Given the description of an element on the screen output the (x, y) to click on. 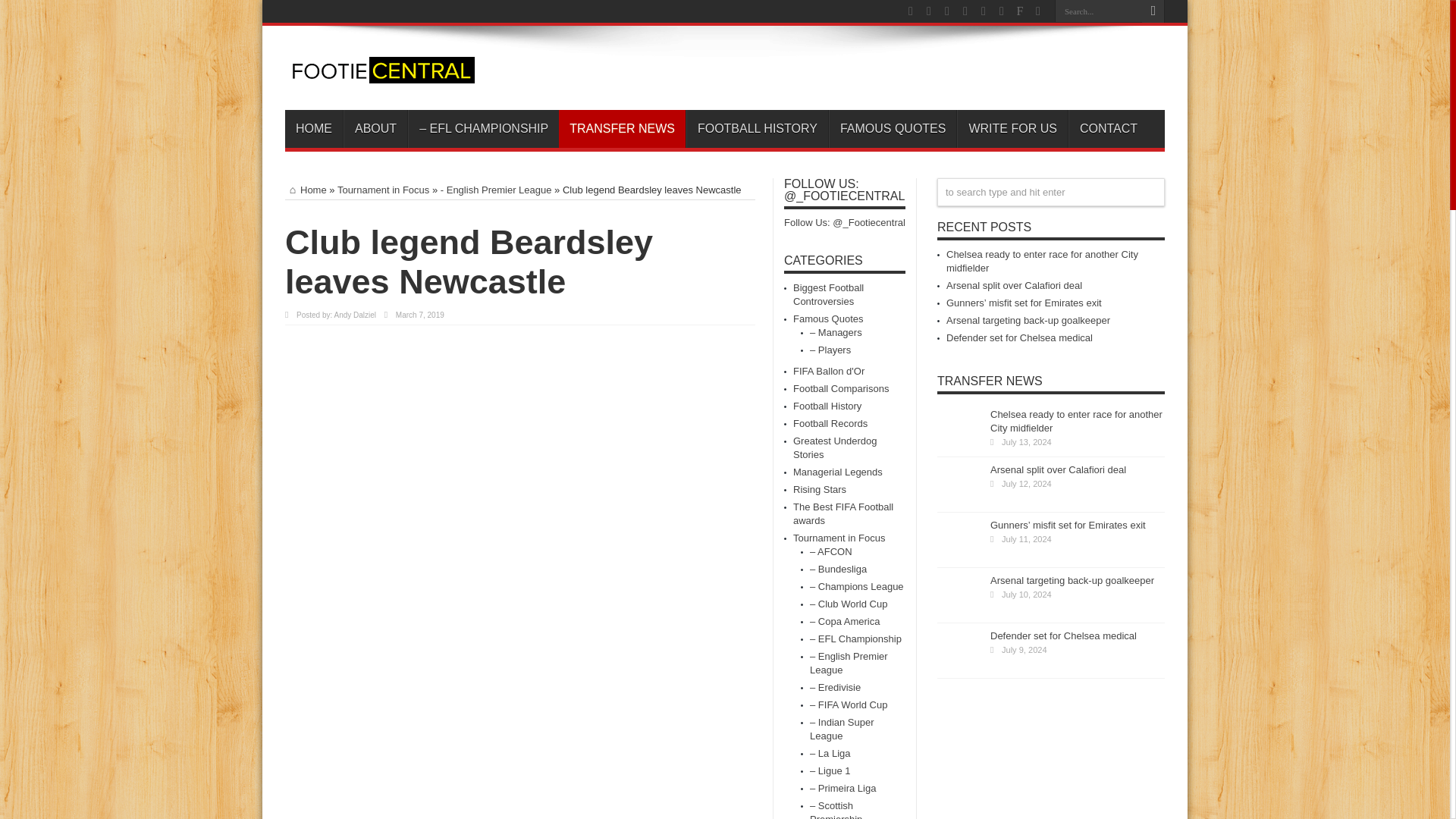
- English Premier League (496, 189)
Home (305, 189)
FAMOUS QUOTES (892, 128)
Tournament in Focus (383, 189)
CONTACT (1108, 128)
Search (1152, 11)
to search type and hit enter (1050, 192)
WRITE FOR US (1011, 128)
Search... (1097, 11)
ABOUT (375, 128)
Andy Dalziel (354, 315)
HOME (313, 128)
TRANSFER NEWS (622, 128)
FOOTBALL HISTORY (756, 128)
